Given the description of an element on the screen output the (x, y) to click on. 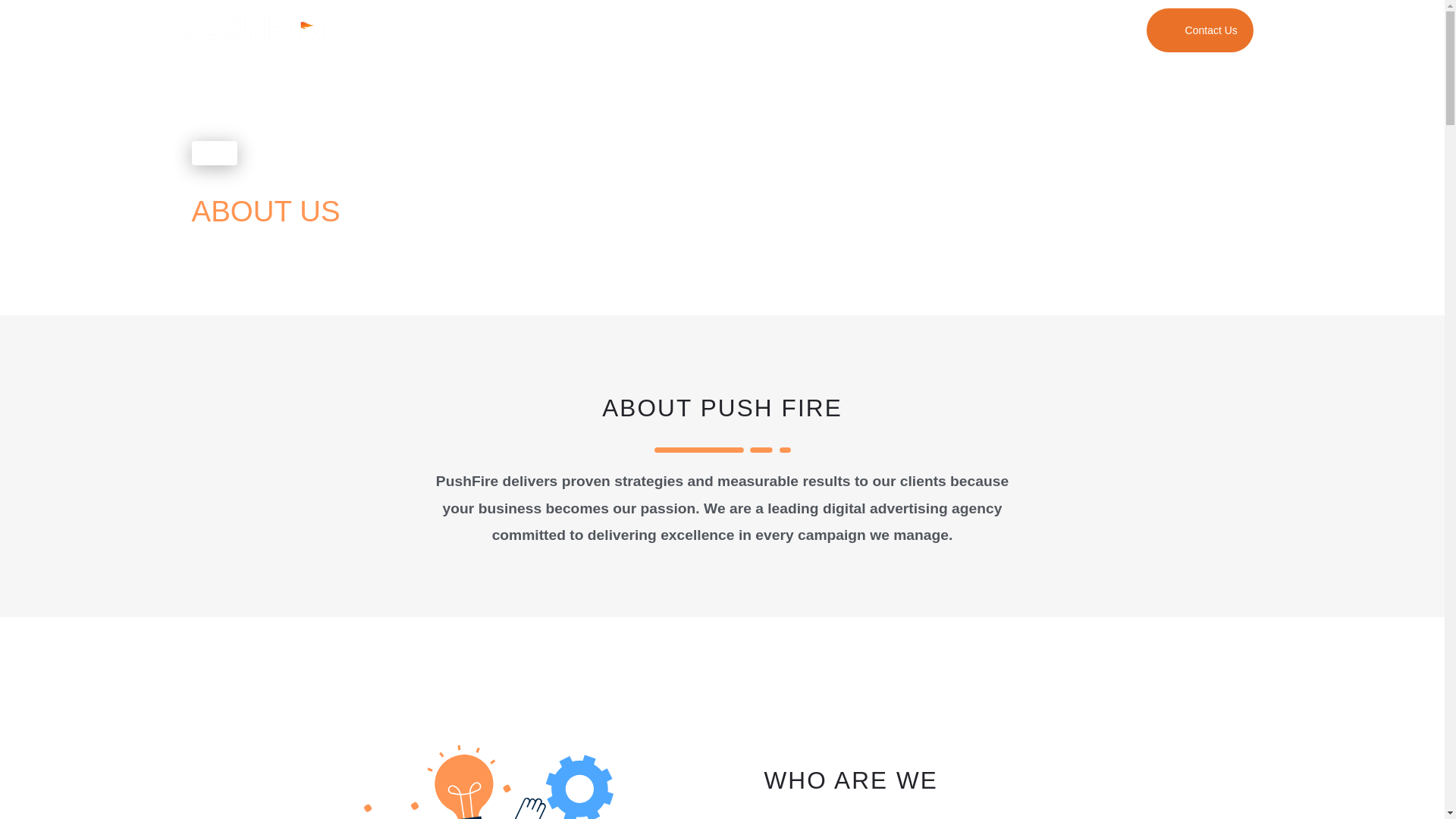
1-888-663-9994 (1052, 29)
Contact Us (1200, 29)
About (622, 30)
Contact Us (1207, 29)
Home (545, 30)
1-888-663-9994 (1064, 29)
Services (822, 30)
Blog (902, 30)
Case Studies (719, 30)
colleagues.svg (466, 752)
HOME (217, 152)
